Given the description of an element on the screen output the (x, y) to click on. 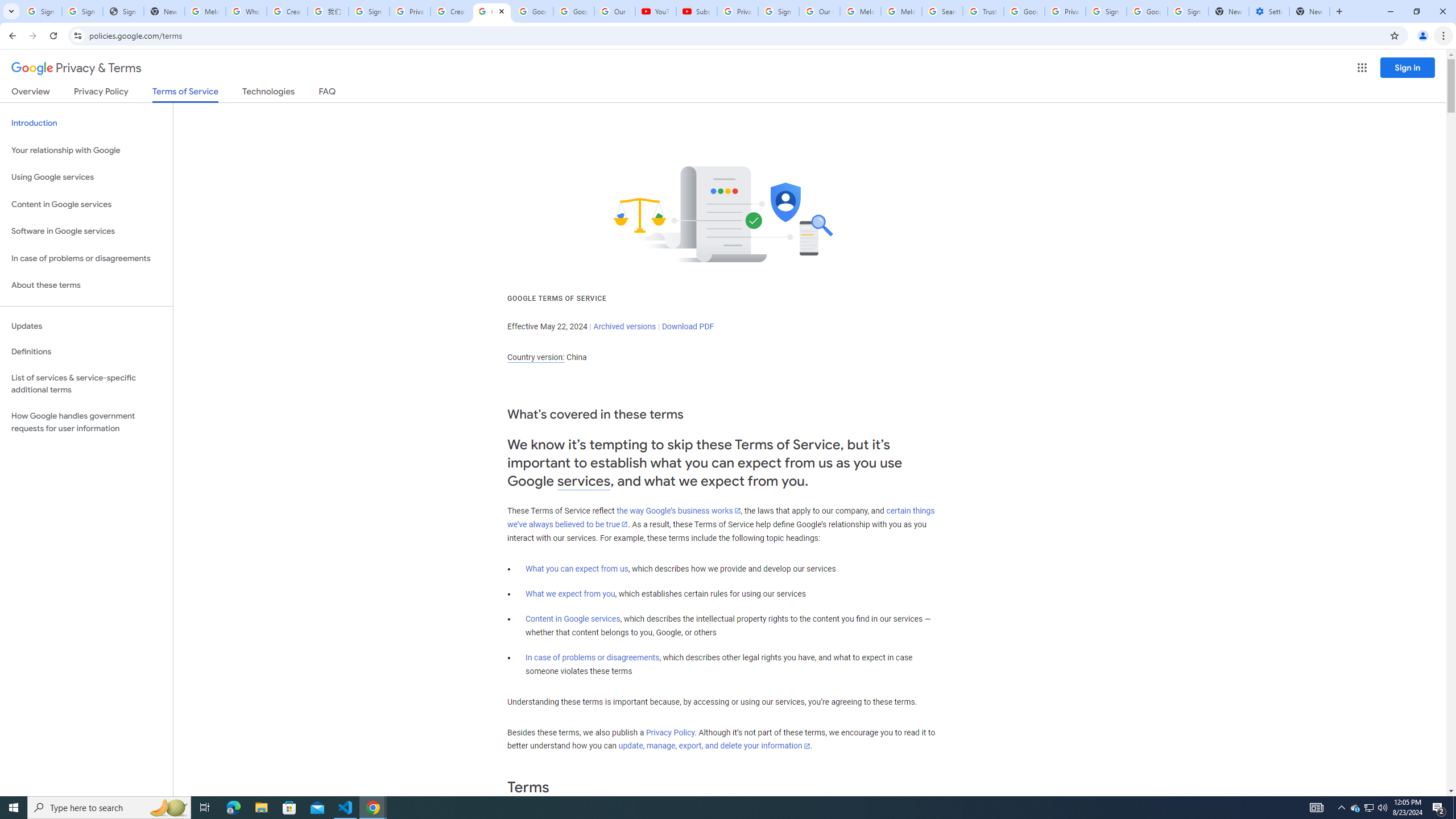
Settings - Addresses and more (1268, 11)
Technologies (268, 93)
What we expect from you (570, 593)
Software in Google services (86, 230)
Google Cybersecurity Innovations - Google Safety Center (1146, 11)
Updates (86, 325)
Archived versions (624, 326)
Create your Google Account (287, 11)
Overview (30, 93)
Google Account (573, 11)
Sign in - Google Accounts (1187, 11)
